Given the description of an element on the screen output the (x, y) to click on. 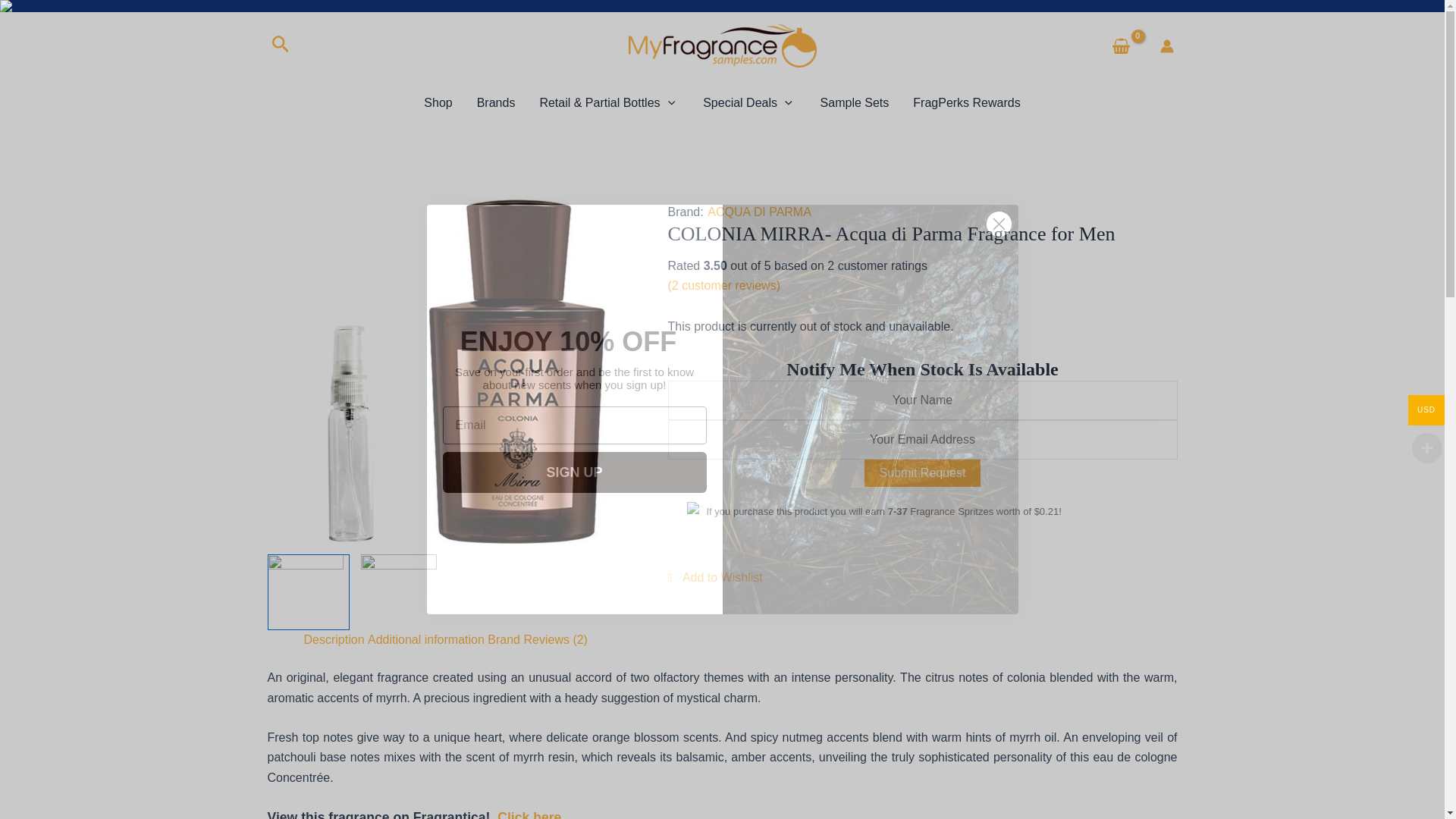
Special Deals (749, 103)
Shop (438, 103)
View brand (758, 211)
MixCollage-12-Apr-2024-10-05-PM-8058 (448, 372)
Submit Request (922, 472)
Sample Sets (854, 103)
FragPerks Rewards (966, 103)
Brands (495, 103)
